Given the description of an element on the screen output the (x, y) to click on. 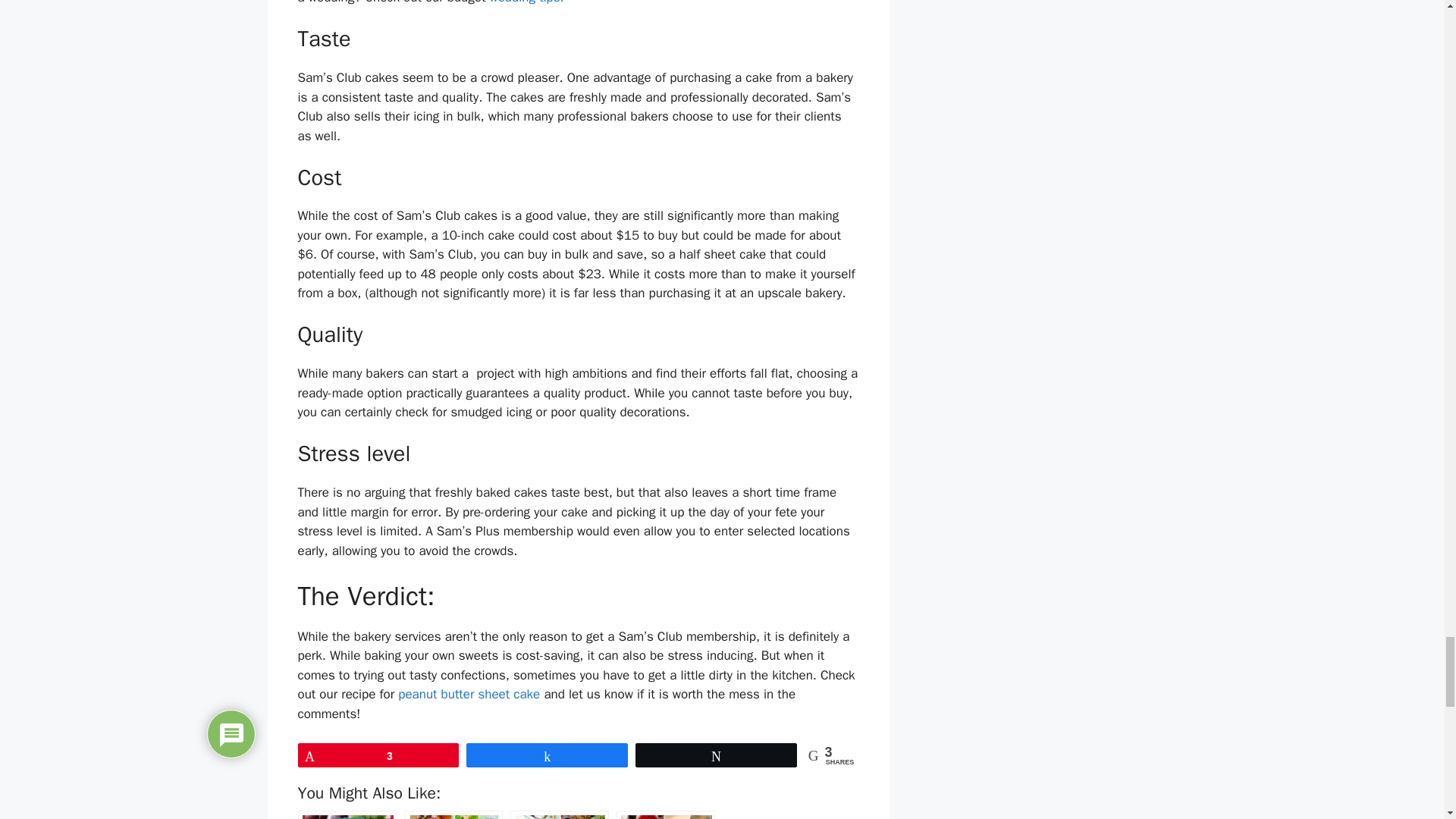
12 Ridiculously Easy Ways to Eat Healthy (559, 814)
10 Whole Foods and Their Amazing Benefits (346, 814)
10 Money-Saving Ideas for Hosting Thanksgiving Dinner (453, 814)
